Given the description of an element on the screen output the (x, y) to click on. 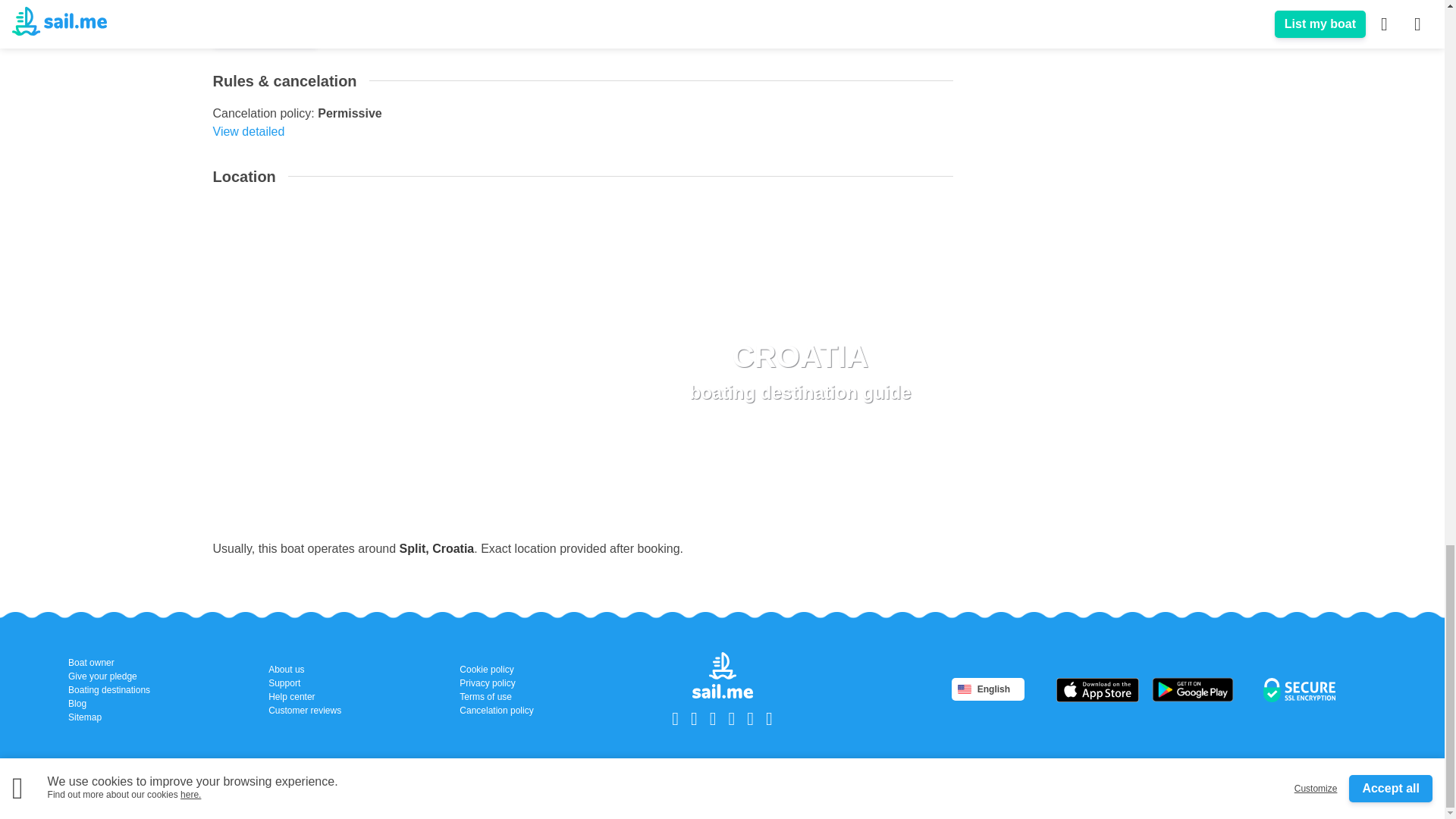
View detailed (247, 131)
Split, Croatia (436, 548)
Blog (108, 703)
Cookie policy (496, 669)
Privacy policy (496, 683)
About us (303, 669)
Click to visit Croatia page (799, 369)
See full profile (250, 1)
Customer reviews (303, 710)
Boat owner (108, 662)
Give your pledge (108, 676)
Sitemap (799, 369)
Boating destinations (108, 716)
Help center (108, 689)
